Given the description of an element on the screen output the (x, y) to click on. 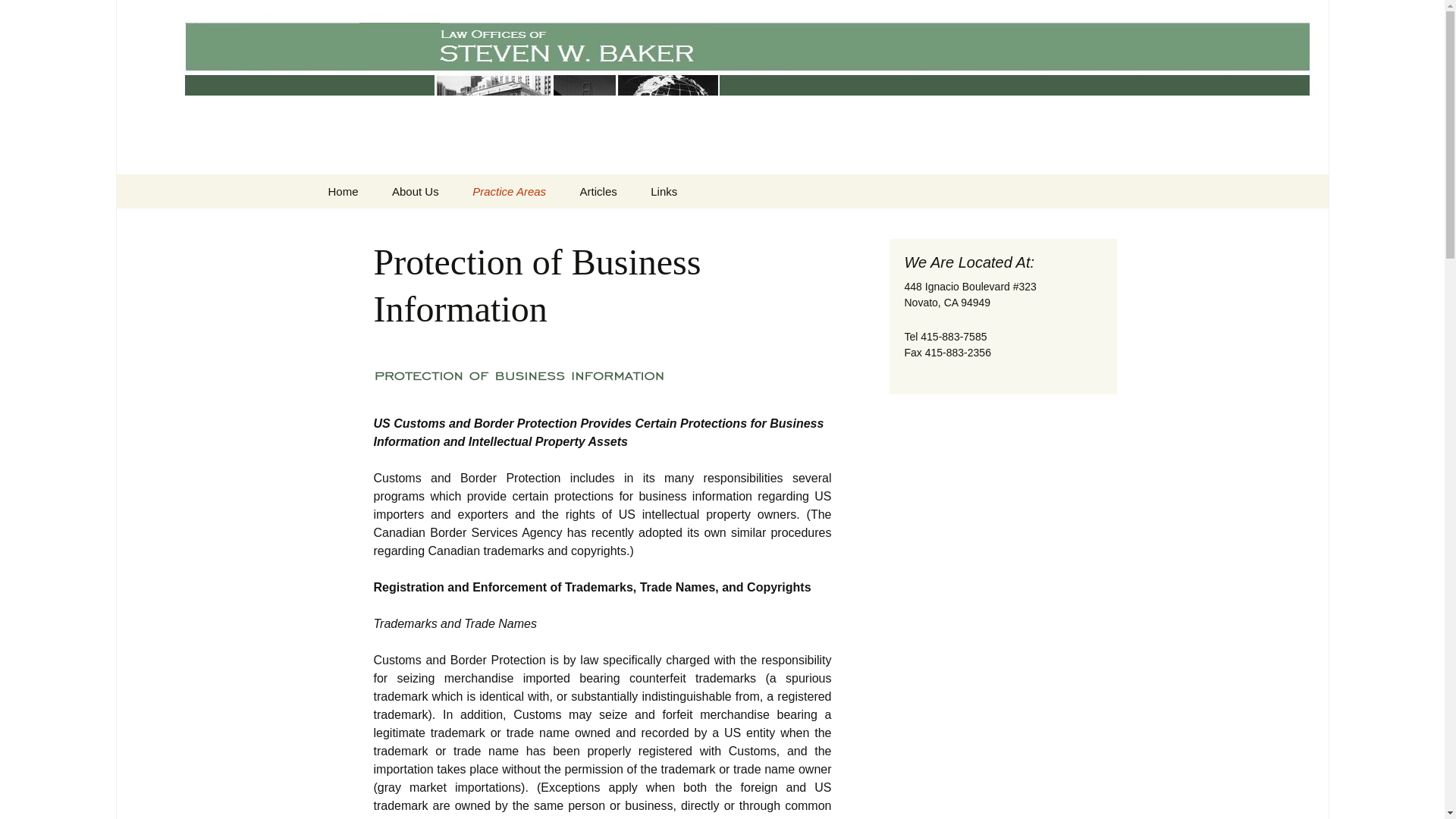
Practice Areas (508, 191)
About Us (415, 191)
Home (342, 191)
Customs Law (532, 225)
Customs (710, 225)
About Our Firm (452, 225)
Articles (597, 191)
Links (663, 191)
Customs Compliance Articles (640, 230)
